Given the description of an element on the screen output the (x, y) to click on. 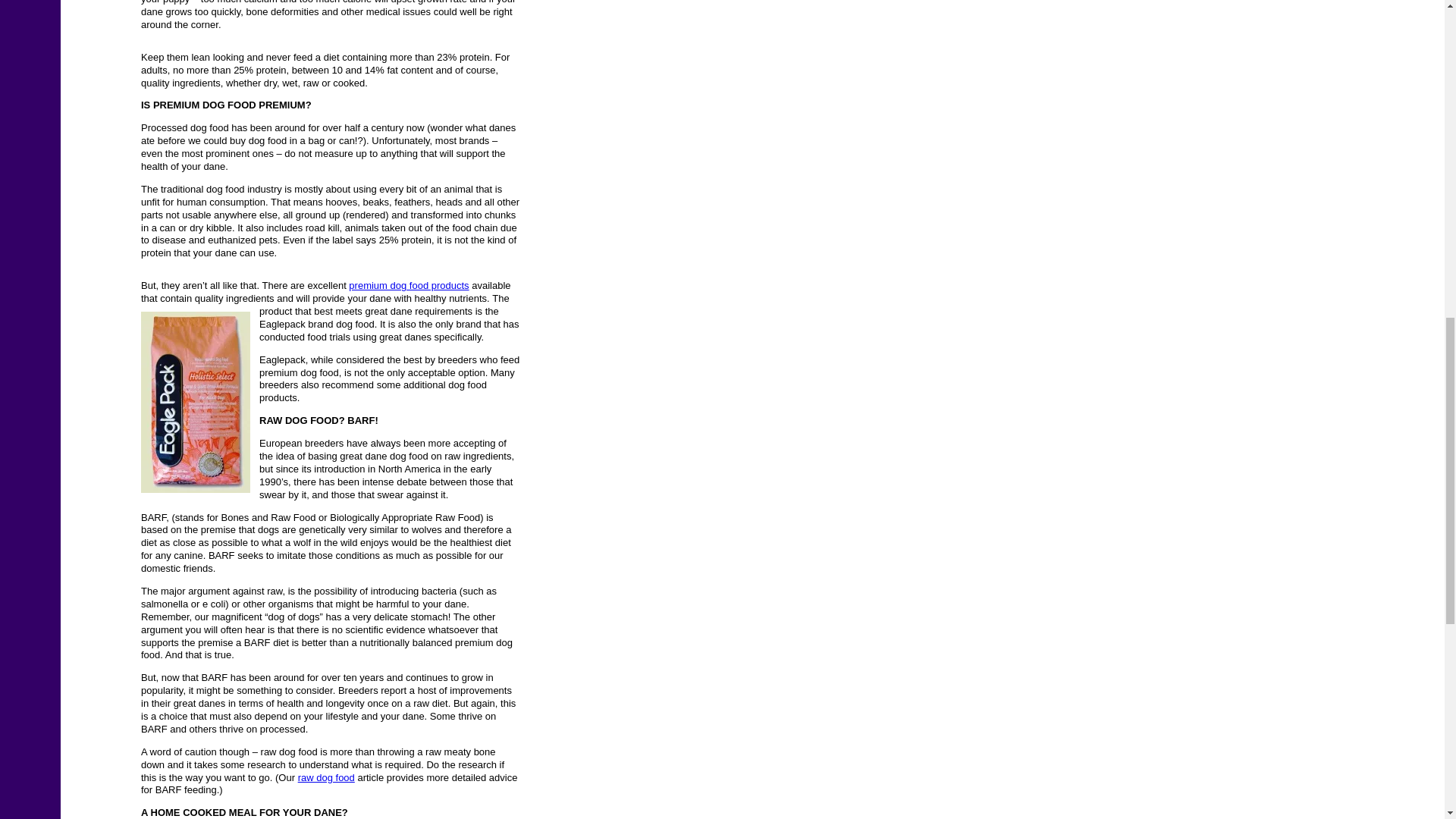
raw dog food (326, 777)
premium dog food products (408, 285)
